Given the description of an element on the screen output the (x, y) to click on. 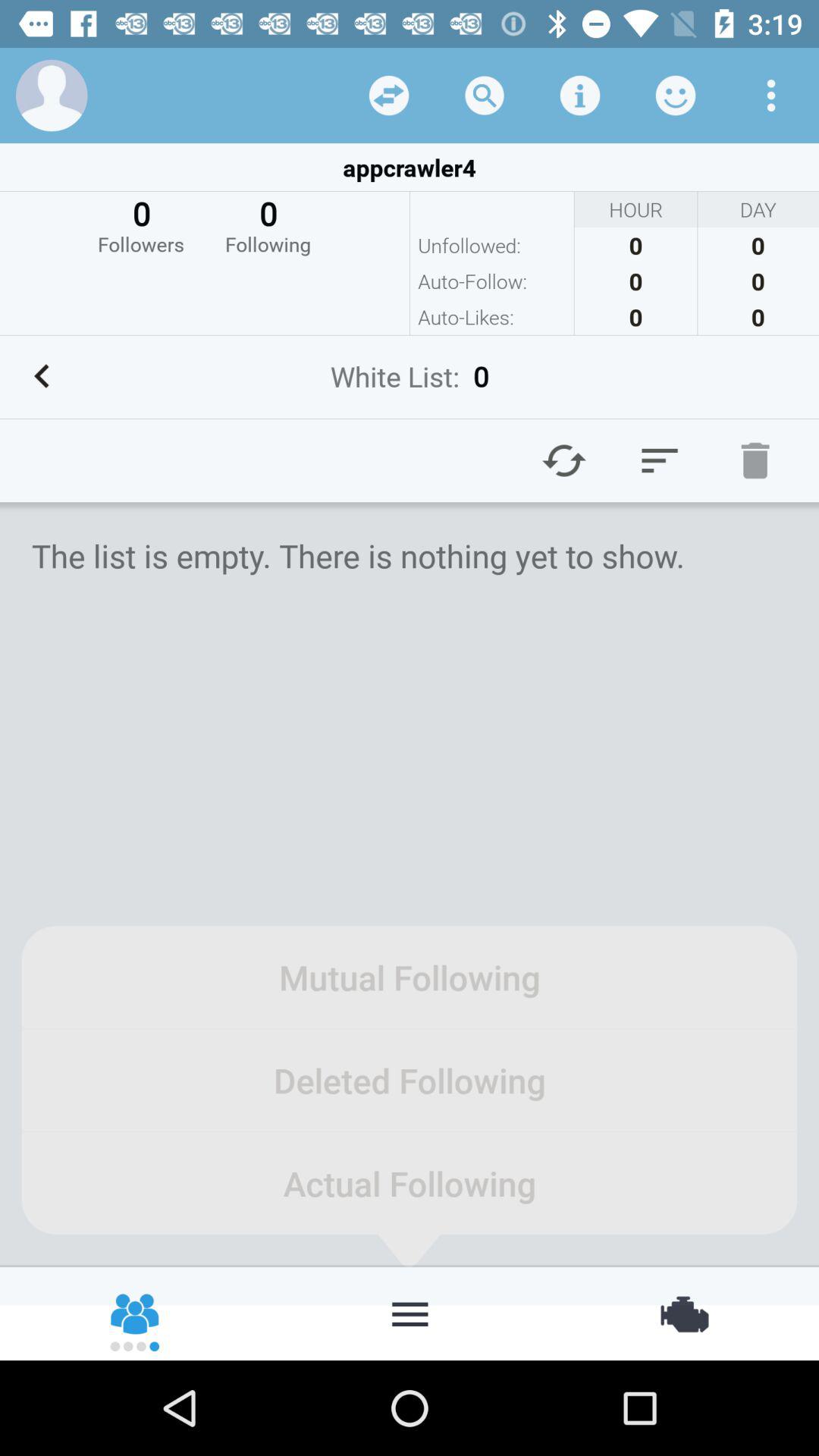
go to previous (41, 376)
